Given the description of an element on the screen output the (x, y) to click on. 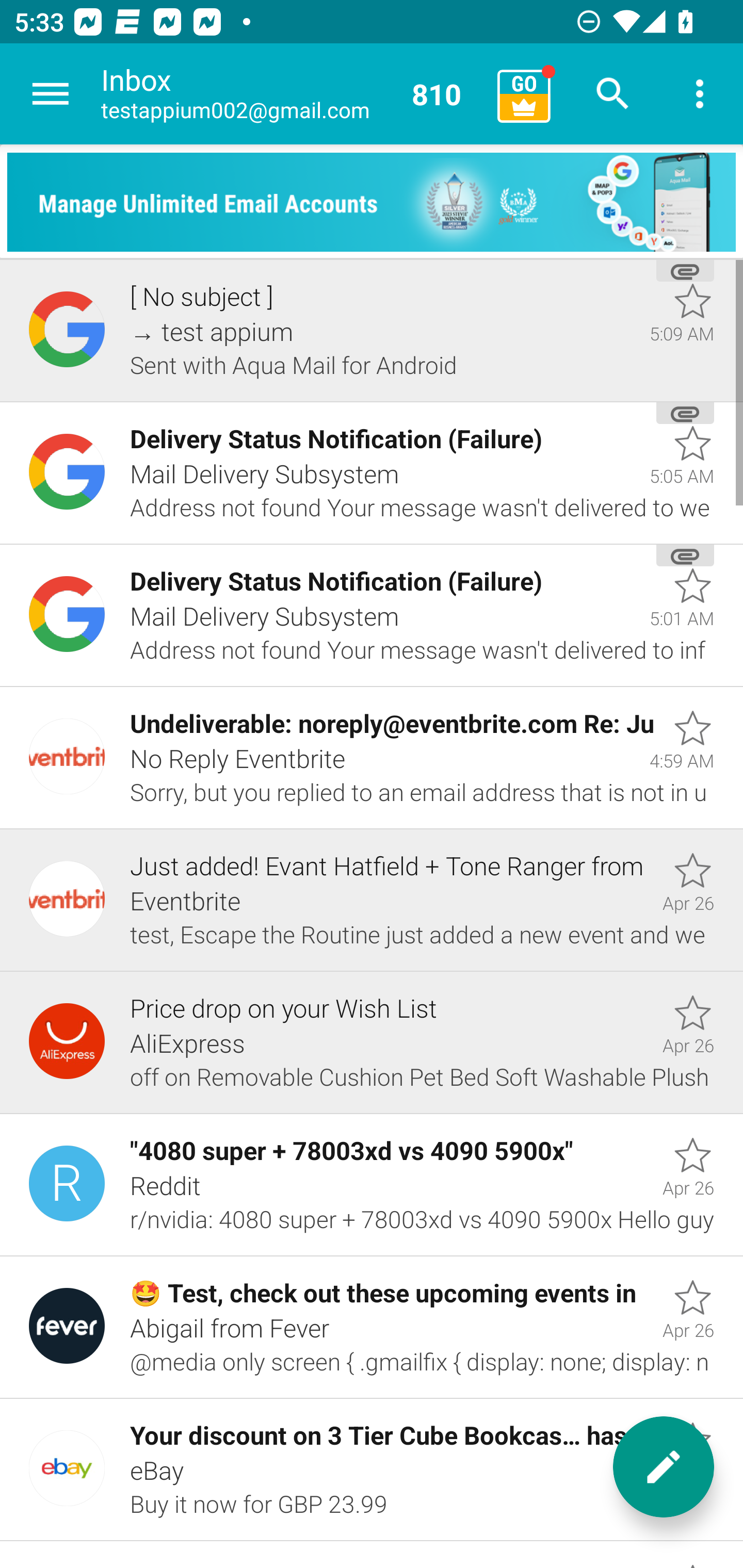
Navigate up (50, 93)
Inbox testappium002@gmail.com 810 (291, 93)
Search (612, 93)
More options (699, 93)
New message (663, 1466)
